Given the description of an element on the screen output the (x, y) to click on. 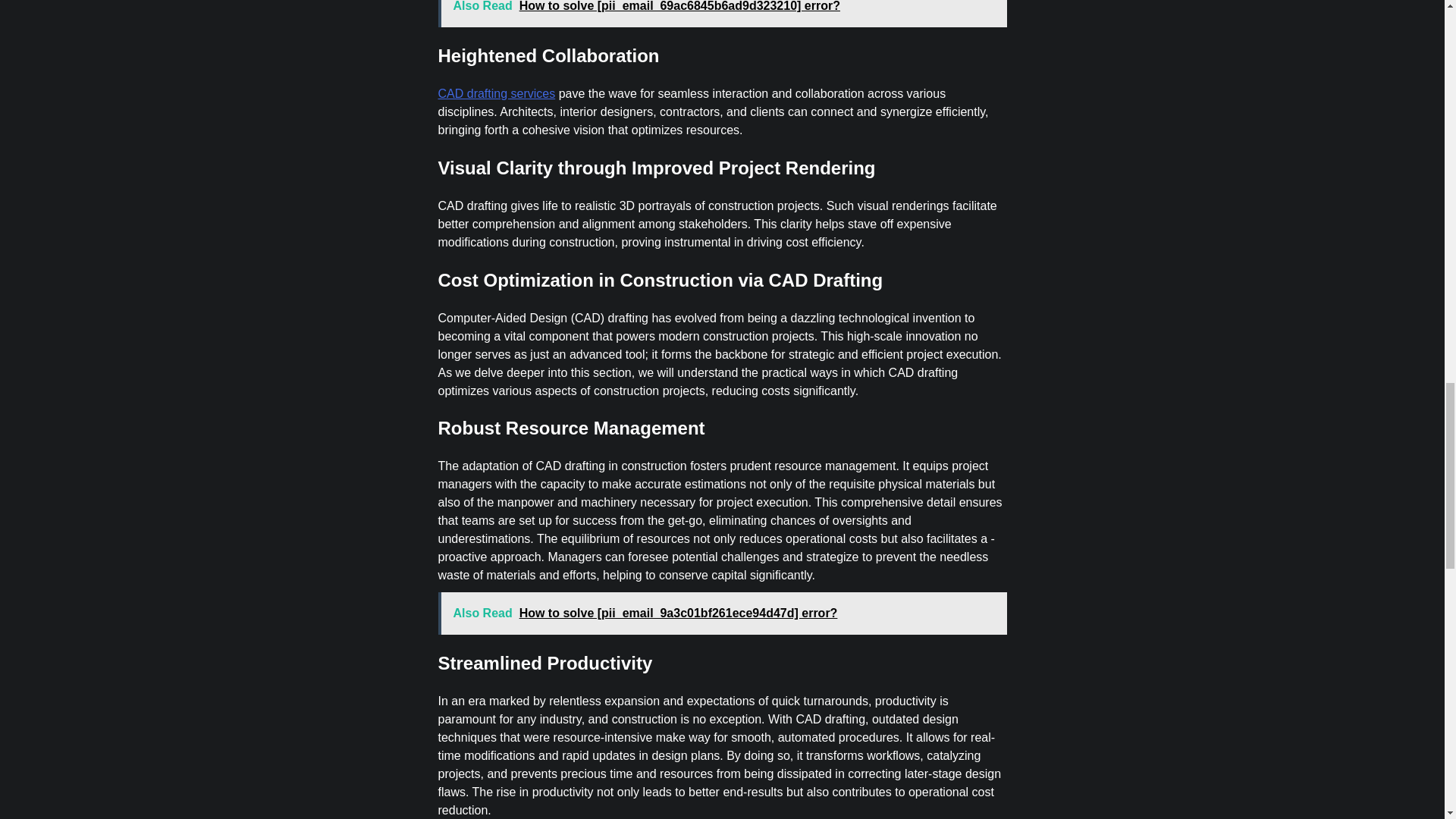
CAD drafting services (497, 92)
